Given the description of an element on the screen output the (x, y) to click on. 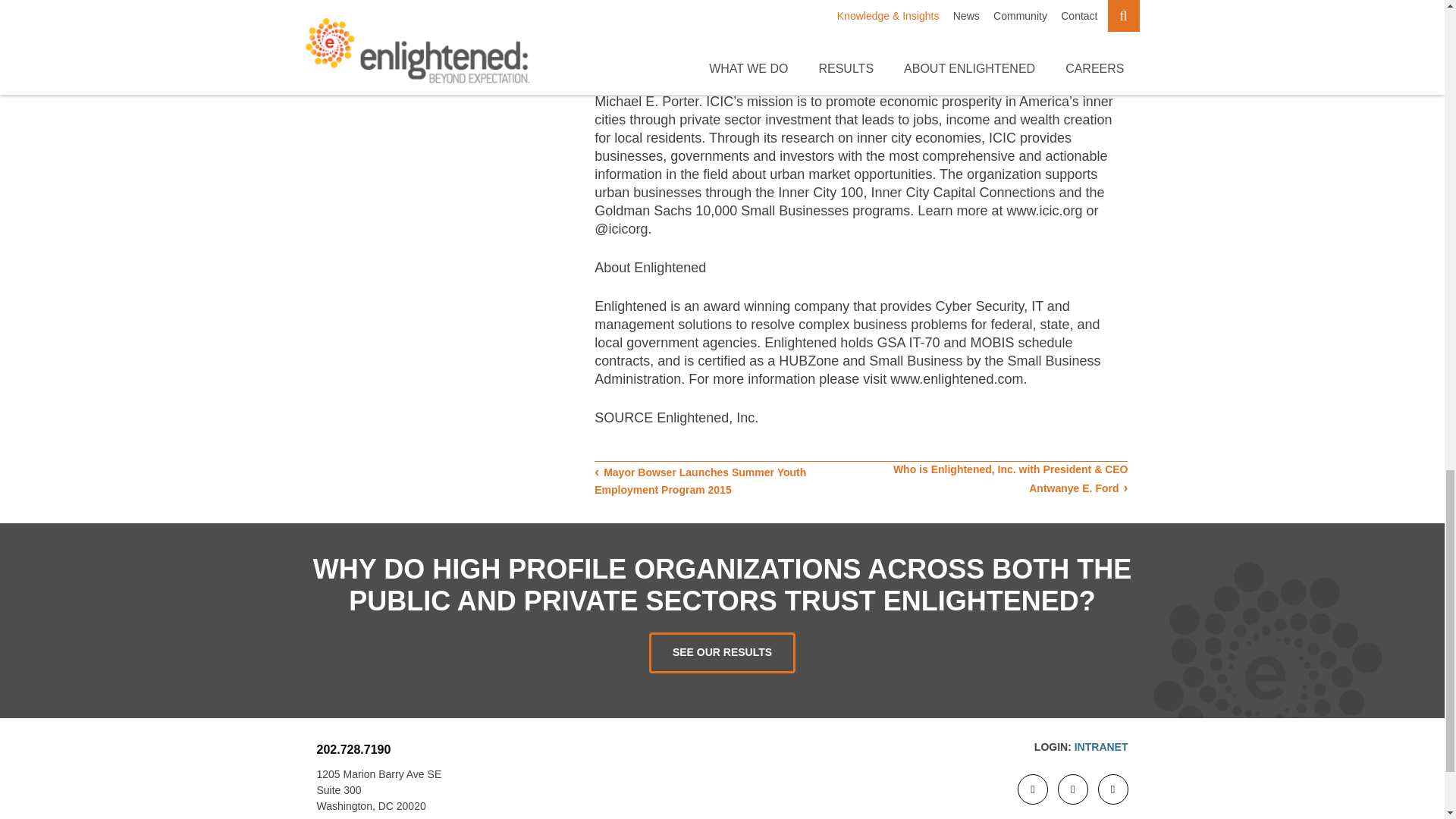
202.728.7190 (354, 748)
SEE OUR RESULTS (721, 652)
INTRANET (1101, 746)
Mayor Bowser Launches Summer Youth Employment Program 2015 (700, 481)
